Given the description of an element on the screen output the (x, y) to click on. 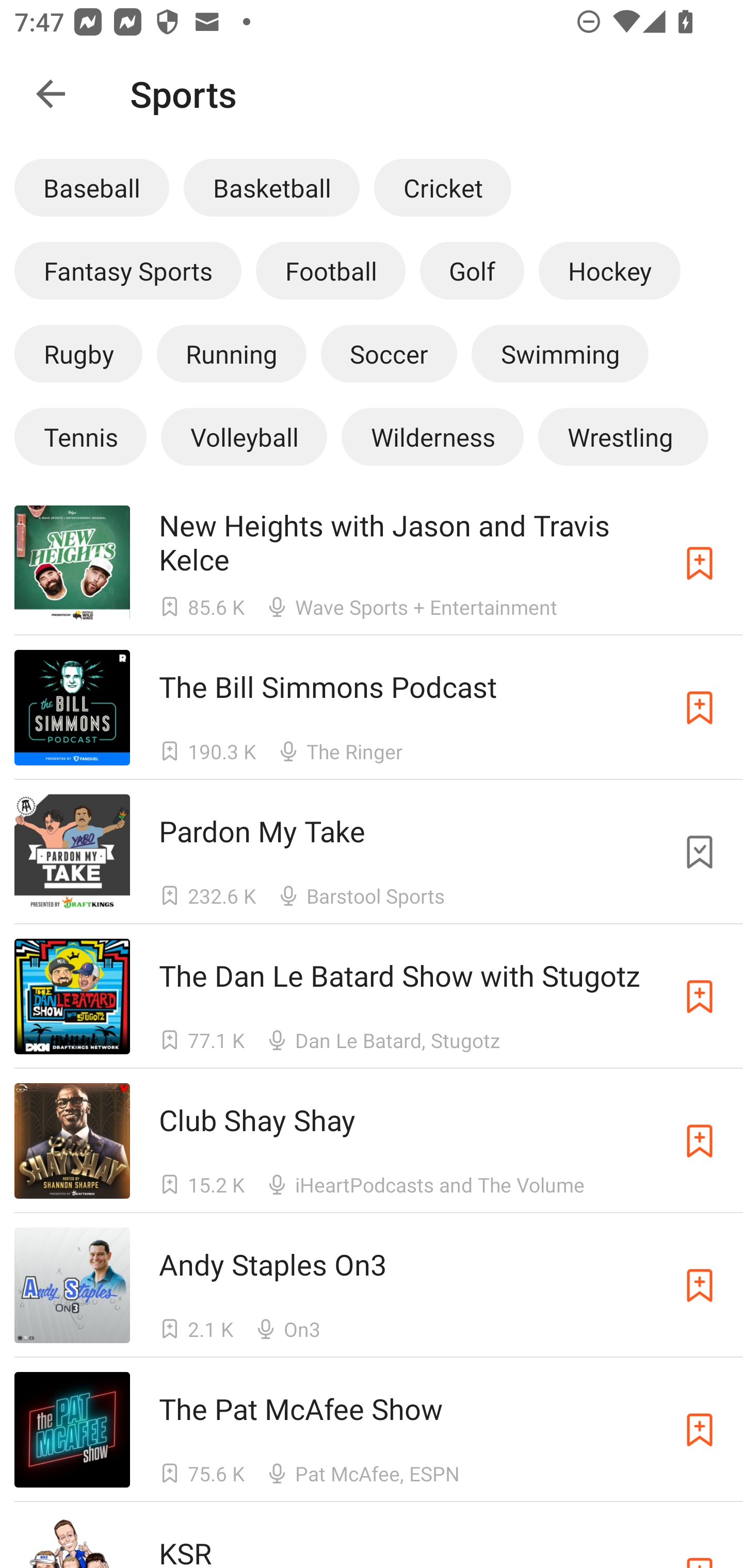
Navigate up (50, 93)
Baseball (91, 187)
Basketball (271, 187)
Cricket (442, 187)
Fantasy Sports (127, 270)
Football (330, 270)
Golf (471, 270)
Hockey (609, 270)
Rugby (78, 353)
Running (231, 353)
Soccer (388, 353)
Swimming (559, 353)
Tennis (80, 436)
Volleyball (243, 436)
Wilderness (432, 436)
Wrestling  (622, 436)
Subscribe (699, 562)
Subscribe (699, 707)
Unsubscribe (699, 851)
Subscribe (699, 996)
Subscribe (699, 1140)
Subscribe (699, 1285)
Subscribe (699, 1430)
